Given the description of an element on the screen output the (x, y) to click on. 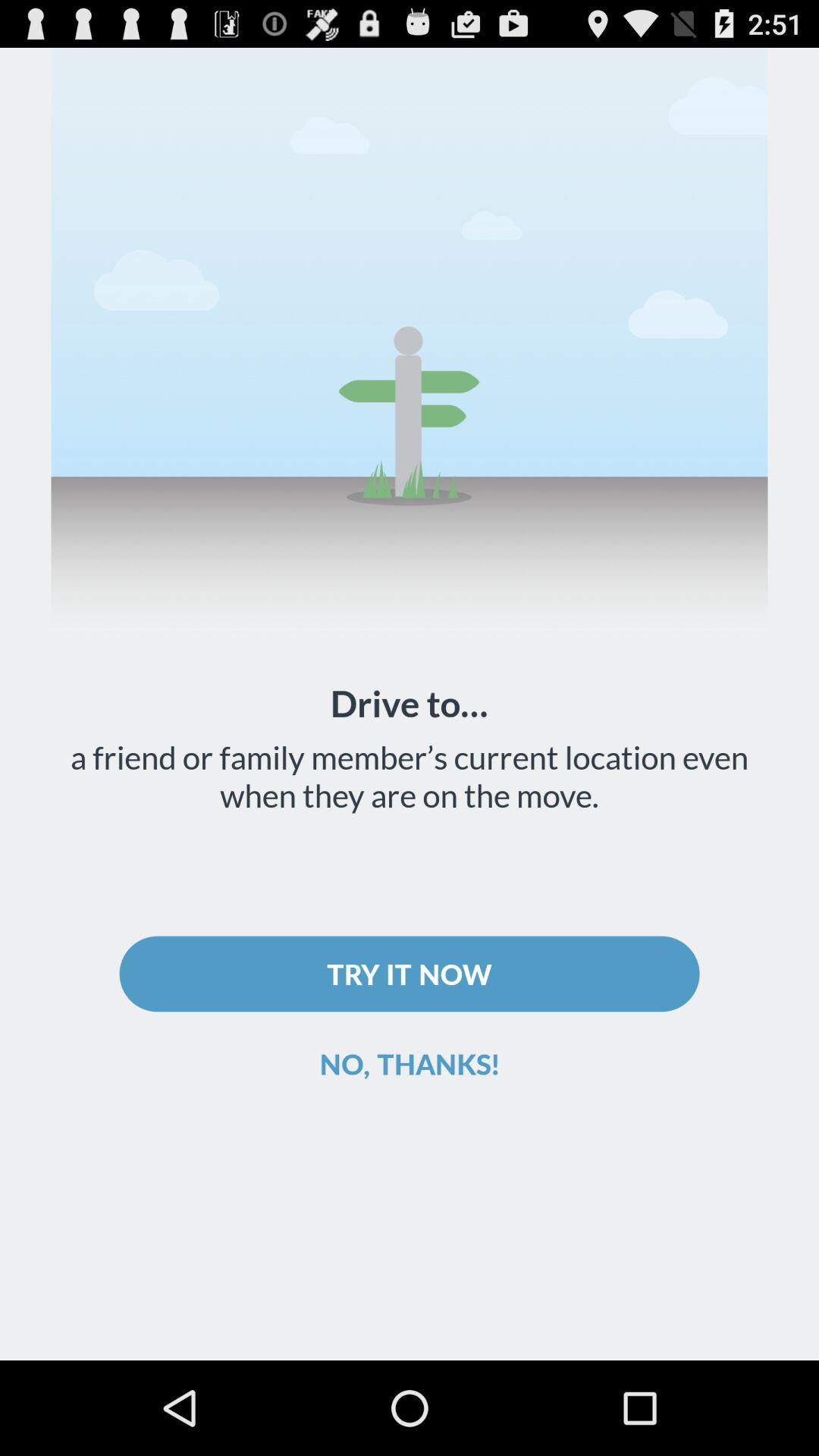
launch item above the no, thanks! (409, 973)
